Given the description of an element on the screen output the (x, y) to click on. 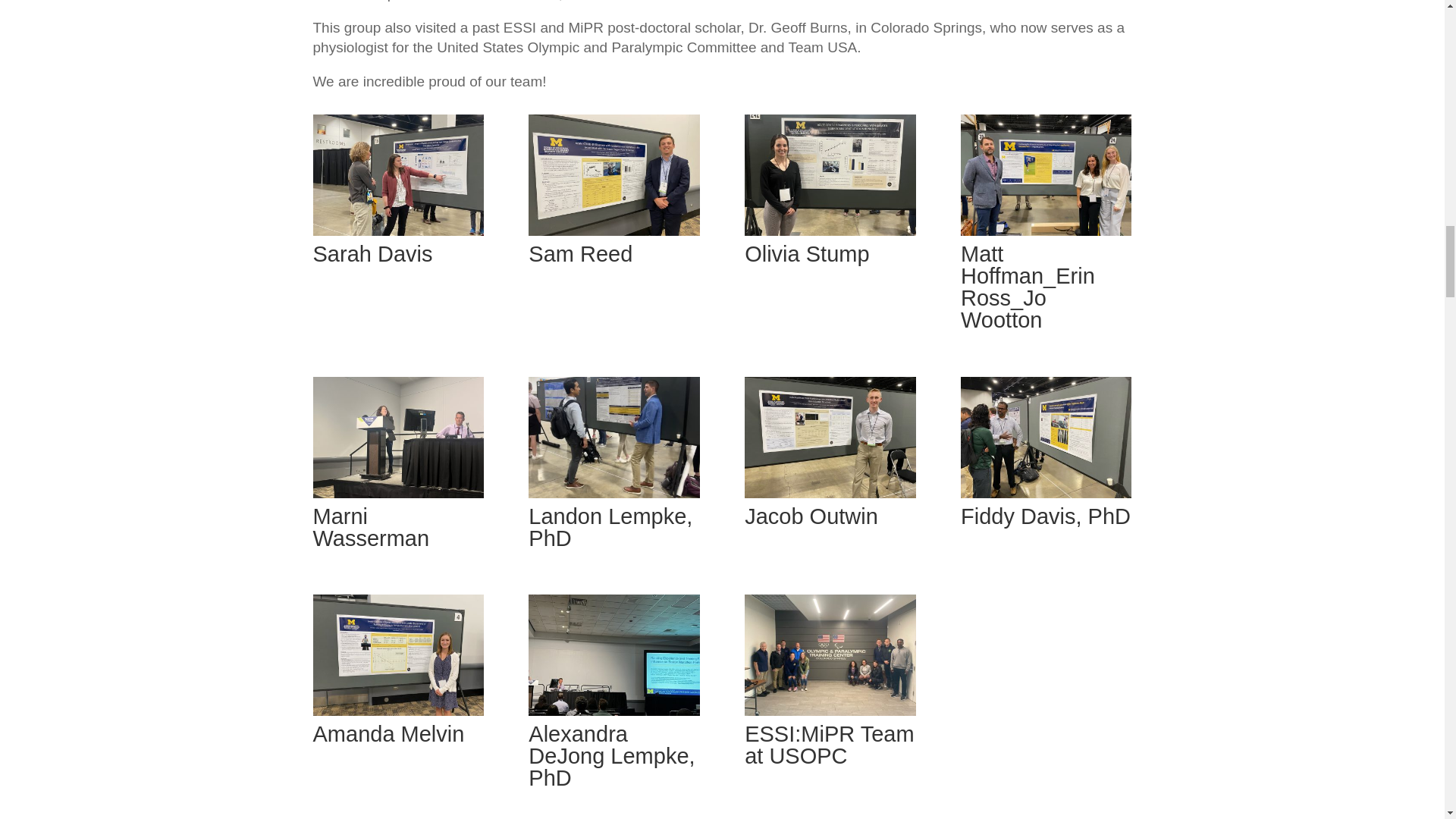
Marni Wasserman (398, 493)
Amanda Melvin (398, 710)
Olivia Stump (829, 230)
Landon Lempke, PhD (613, 493)
Sarah Davis (398, 230)
Fiddy Davis, PhD (1045, 493)
Sam Reed (613, 230)
Alexandra DeJong Lempke, PhD (613, 710)
Jacob Outwin (829, 493)
ESSI:MiPR Team at USOPC (829, 710)
